Given the description of an element on the screen output the (x, y) to click on. 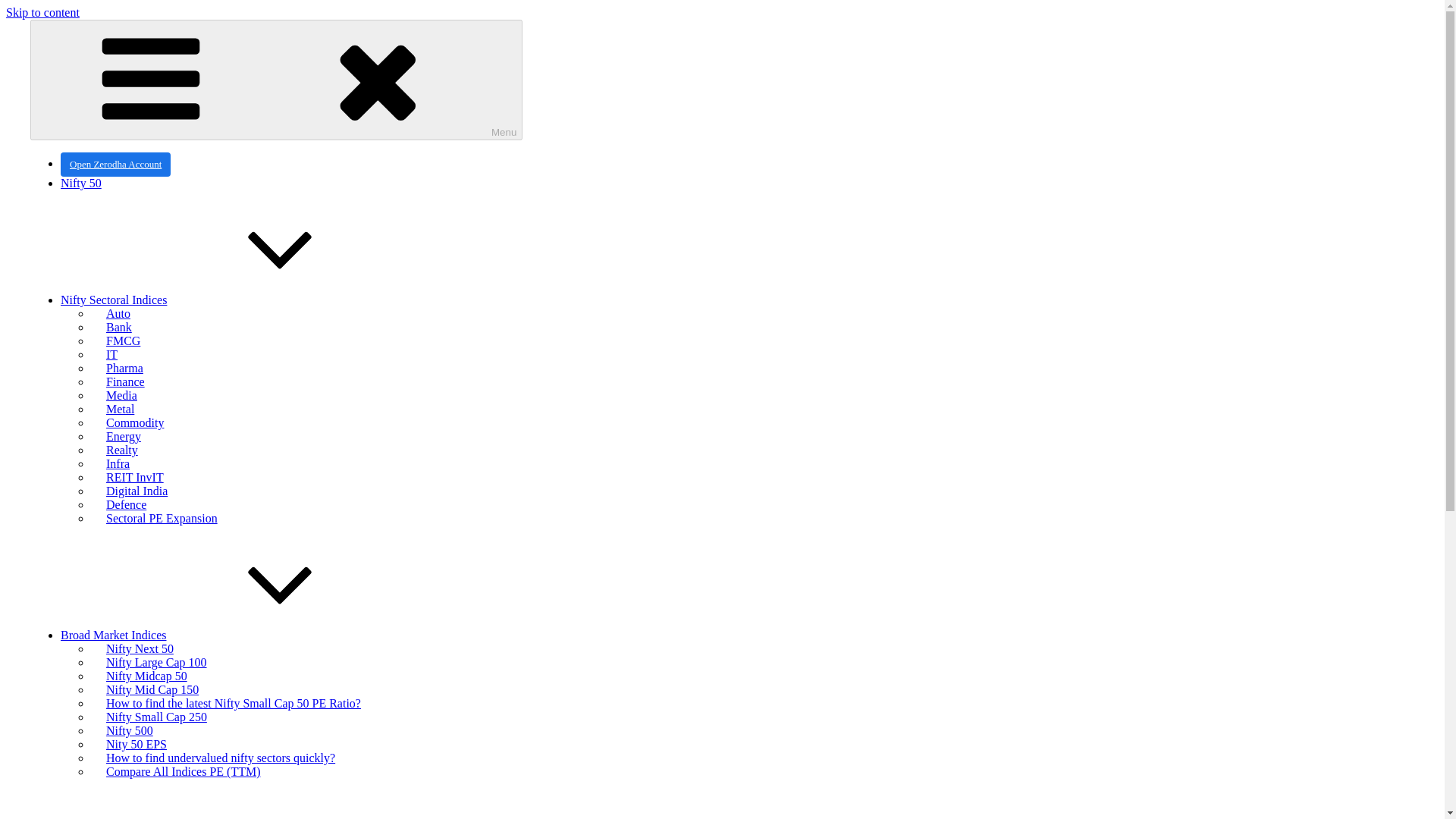
Defence (125, 504)
Nifty Large Cap 100 (156, 662)
Realty (121, 449)
Sectoral PE Expansion (161, 518)
Media (121, 395)
Nity 50 EPS (136, 744)
Bank (118, 326)
How to find the latest Nifty Small Cap 50 PE Ratio? (232, 703)
Energy (122, 436)
Nifty PE Ratio (41, 38)
